Given the description of an element on the screen output the (x, y) to click on. 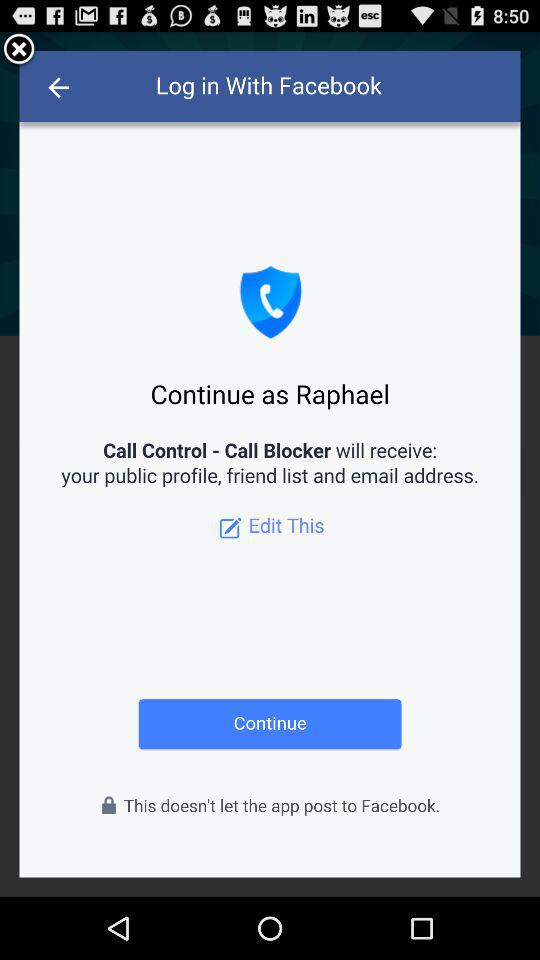
close account access screen (19, 50)
